Given the description of an element on the screen output the (x, y) to click on. 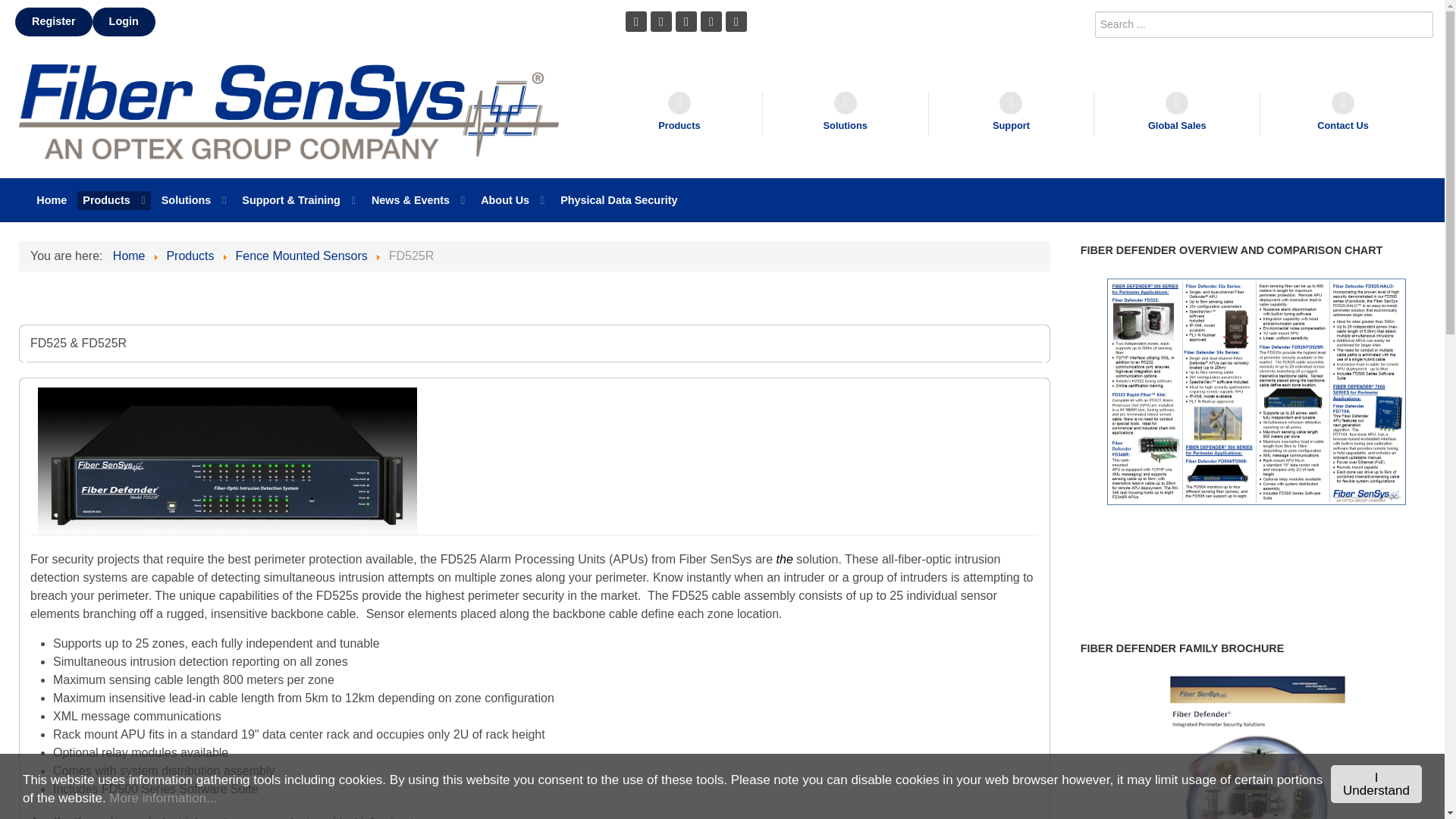
Contact Us (1342, 113)
Register (53, 21)
Contact Us (1342, 113)
Fiber SenSys Inc. (288, 110)
Products (114, 199)
Support (1011, 113)
Solutions (845, 113)
Home (51, 199)
Support (1011, 113)
Login (124, 21)
Global Sales  (1177, 113)
Products (679, 113)
Products (679, 113)
Home (51, 199)
Global Sales (1177, 113)
